Given the description of an element on the screen output the (x, y) to click on. 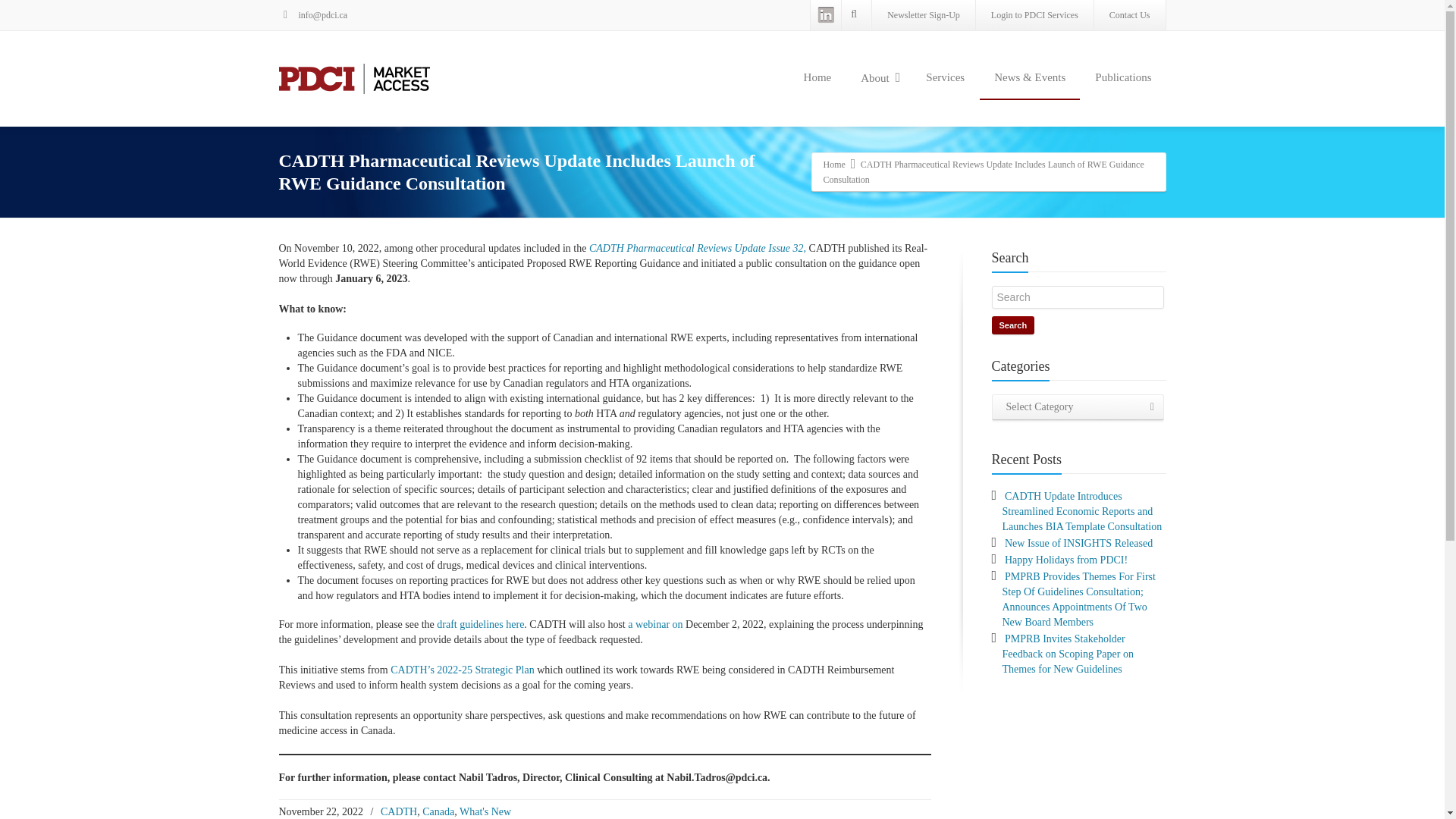
CADTH Pharmaceutical Reviews Update Issue 32, (697, 247)
About (878, 78)
Publications (1123, 77)
Home (817, 77)
New Issue of INSIGHTS Released (1078, 542)
Services (944, 77)
CADTH (398, 811)
Home (834, 163)
Happy Holidays from PDCI! (1065, 559)
